Given the description of an element on the screen output the (x, y) to click on. 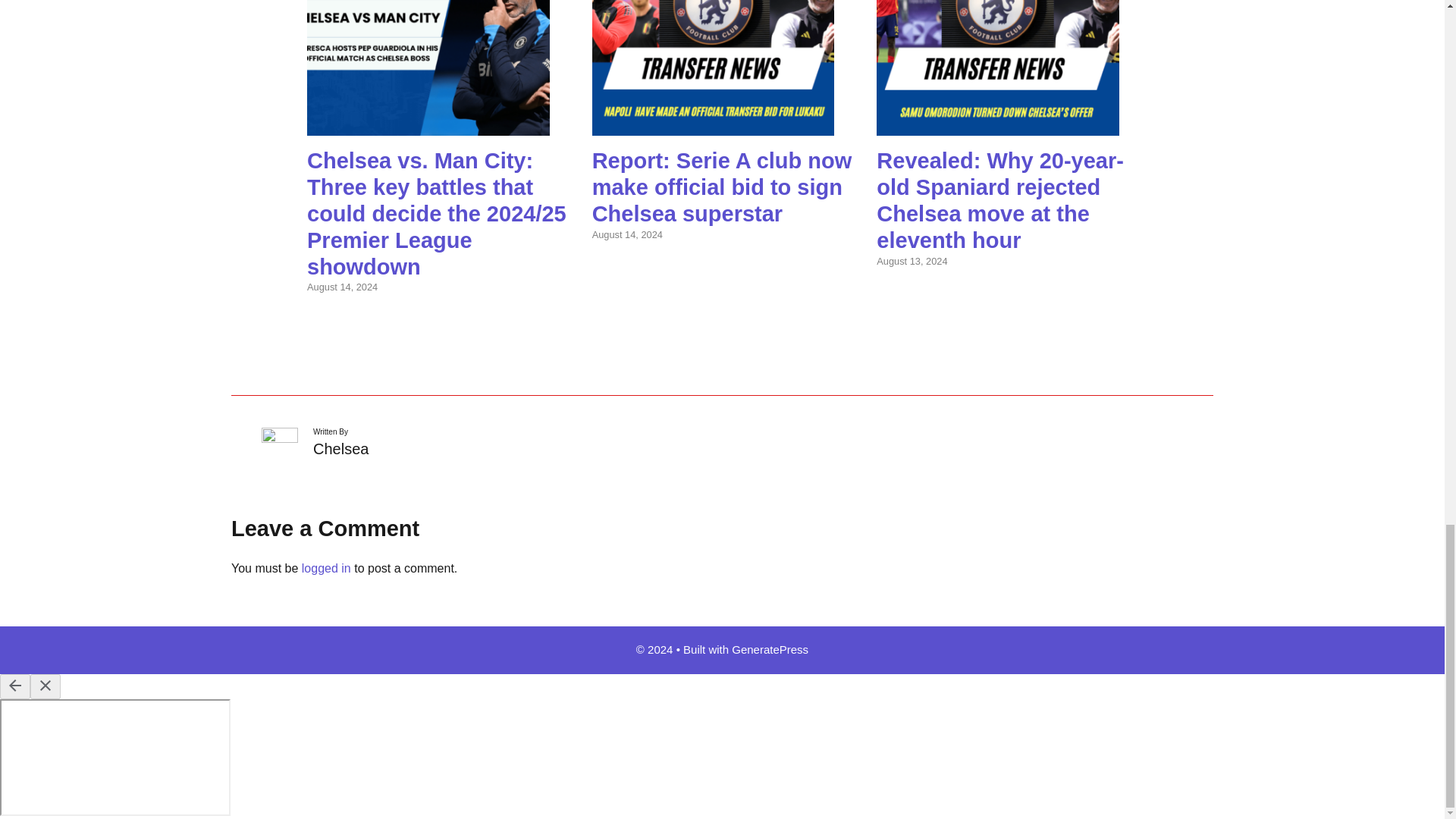
11:30 am (342, 286)
12:47 am (627, 234)
